Given the description of an element on the screen output the (x, y) to click on. 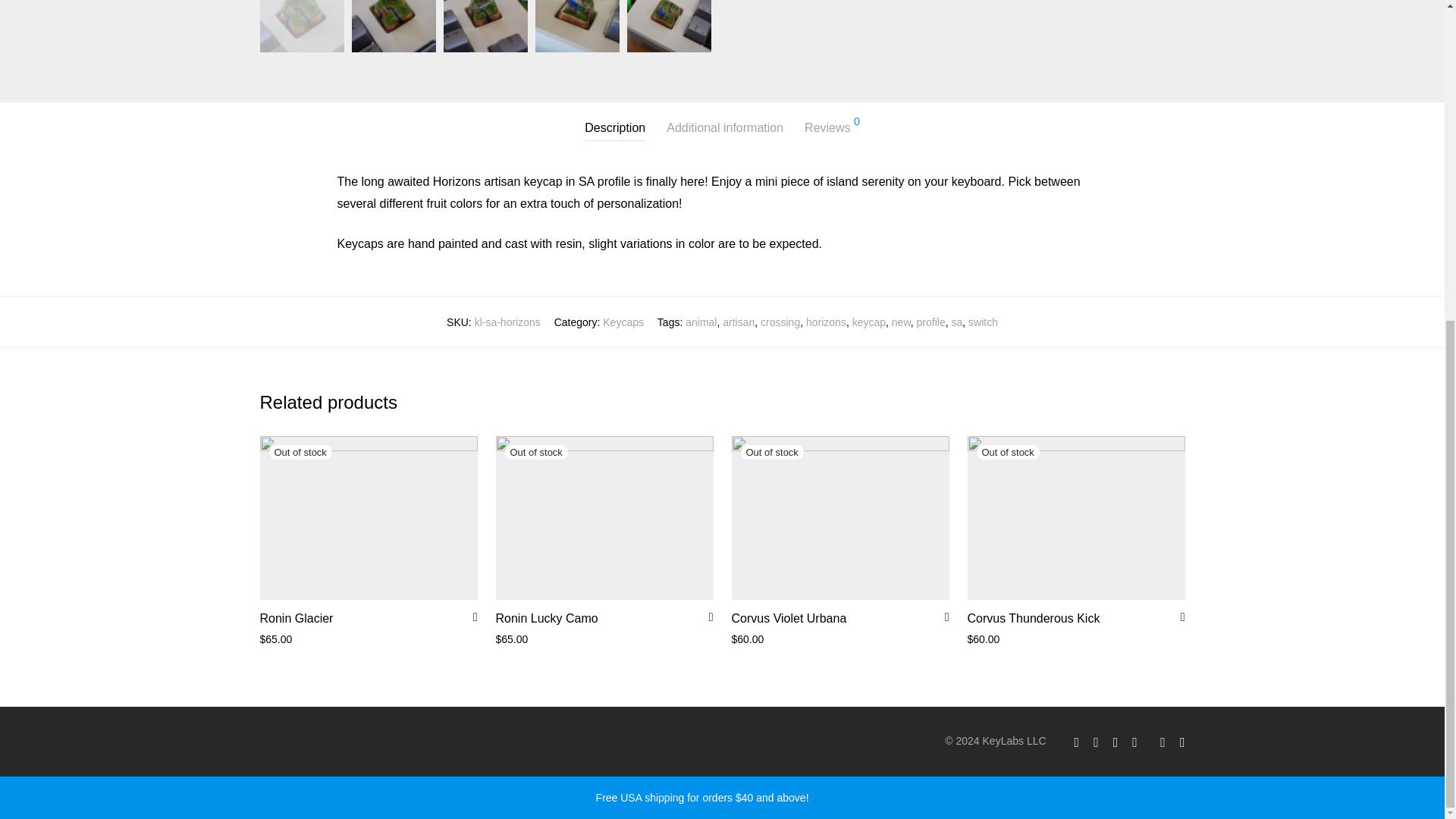
Additional information (724, 128)
Reviews 0 (832, 128)
Description (615, 128)
Add to Wishlist (470, 616)
